Given the description of an element on the screen output the (x, y) to click on. 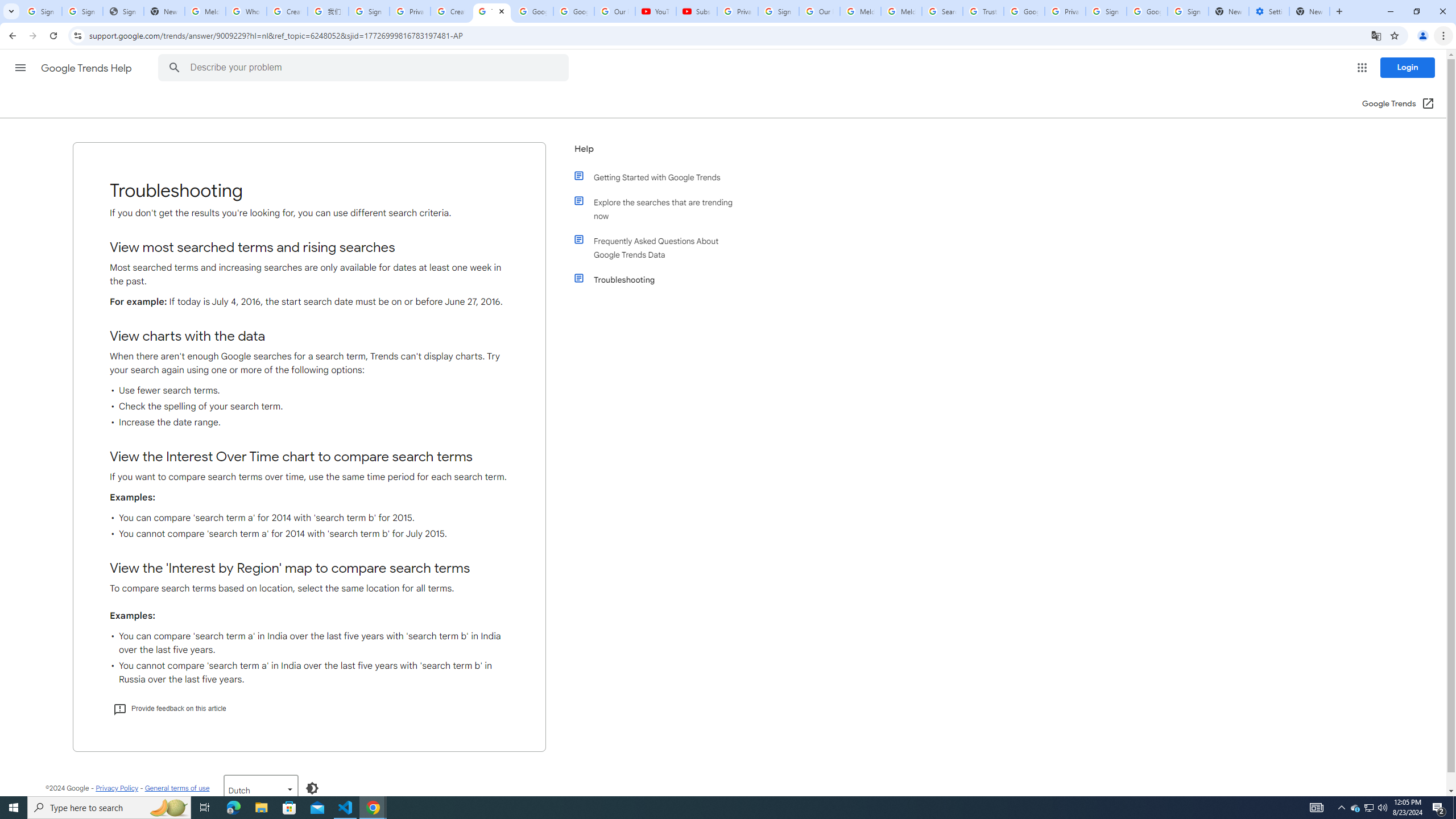
Sign in - Google Accounts (777, 11)
Search the Help Center (174, 67)
Troubleshooting (661, 279)
Sign in - Google Accounts (368, 11)
Google Account (573, 11)
Enable dark mode (312, 787)
Trusted Information and Content - Google Safety Center (983, 11)
Google Ads - Sign in (1023, 11)
Sign In - USA TODAY (122, 11)
Create your Google Account (287, 11)
